Given the description of an element on the screen output the (x, y) to click on. 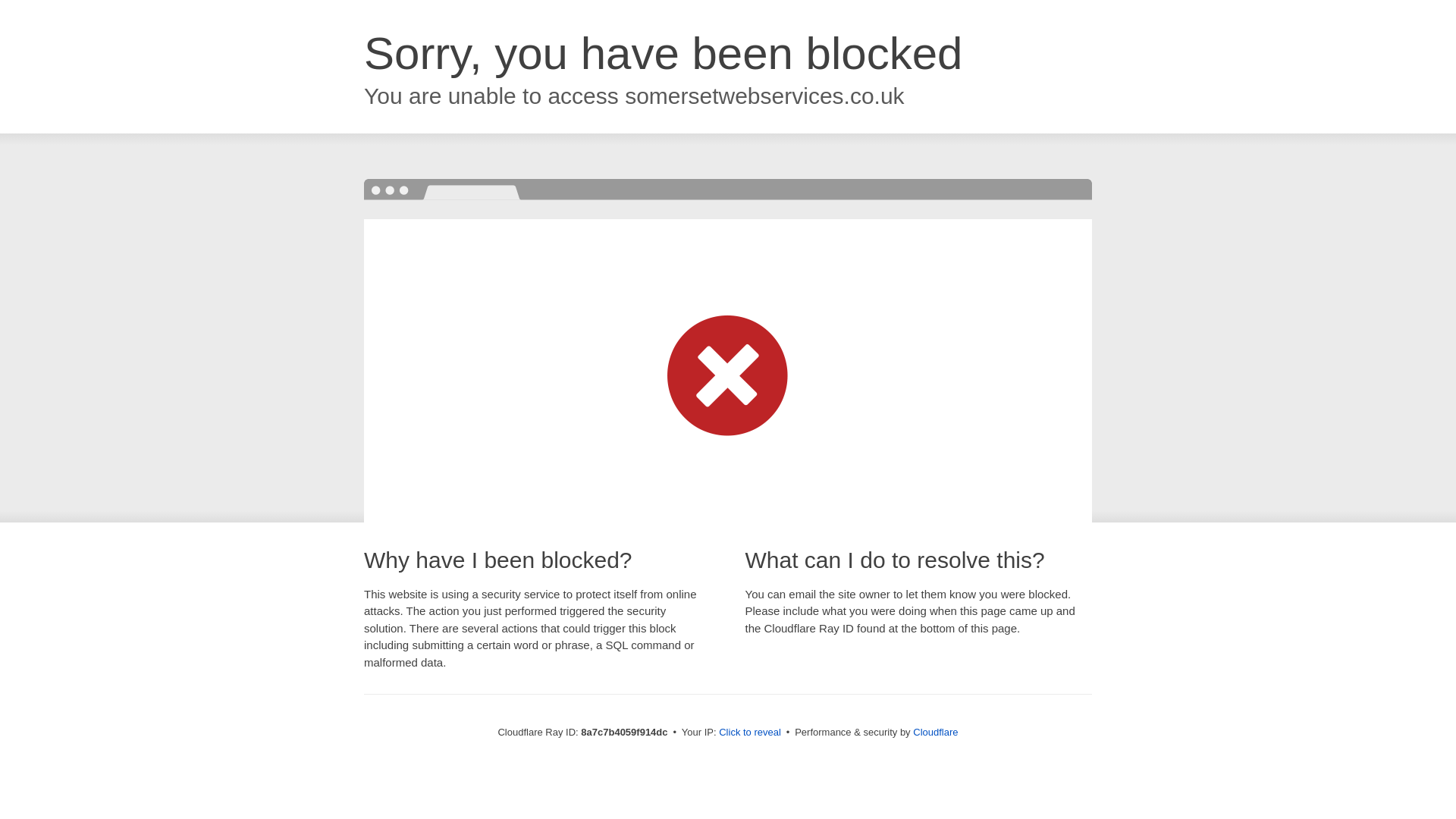
Cloudflare (935, 731)
Click to reveal (749, 732)
